Given the description of an element on the screen output the (x, y) to click on. 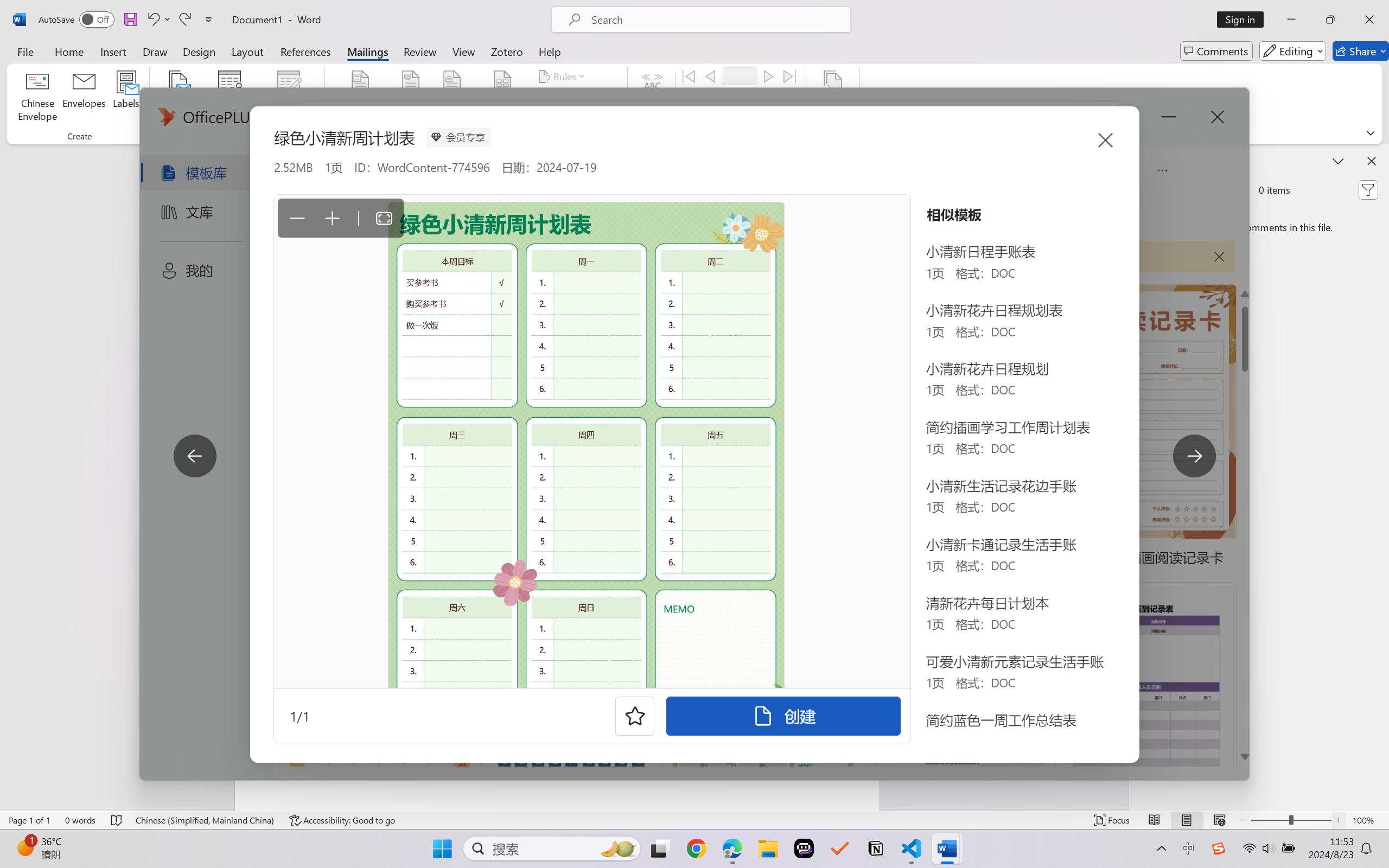
Next (768, 75)
Language Chinese (Simplified, Mainland China) (205, 819)
Envelopes... (84, 97)
Previous (709, 75)
Check for Errors... (728, 118)
